Given the description of an element on the screen output the (x, y) to click on. 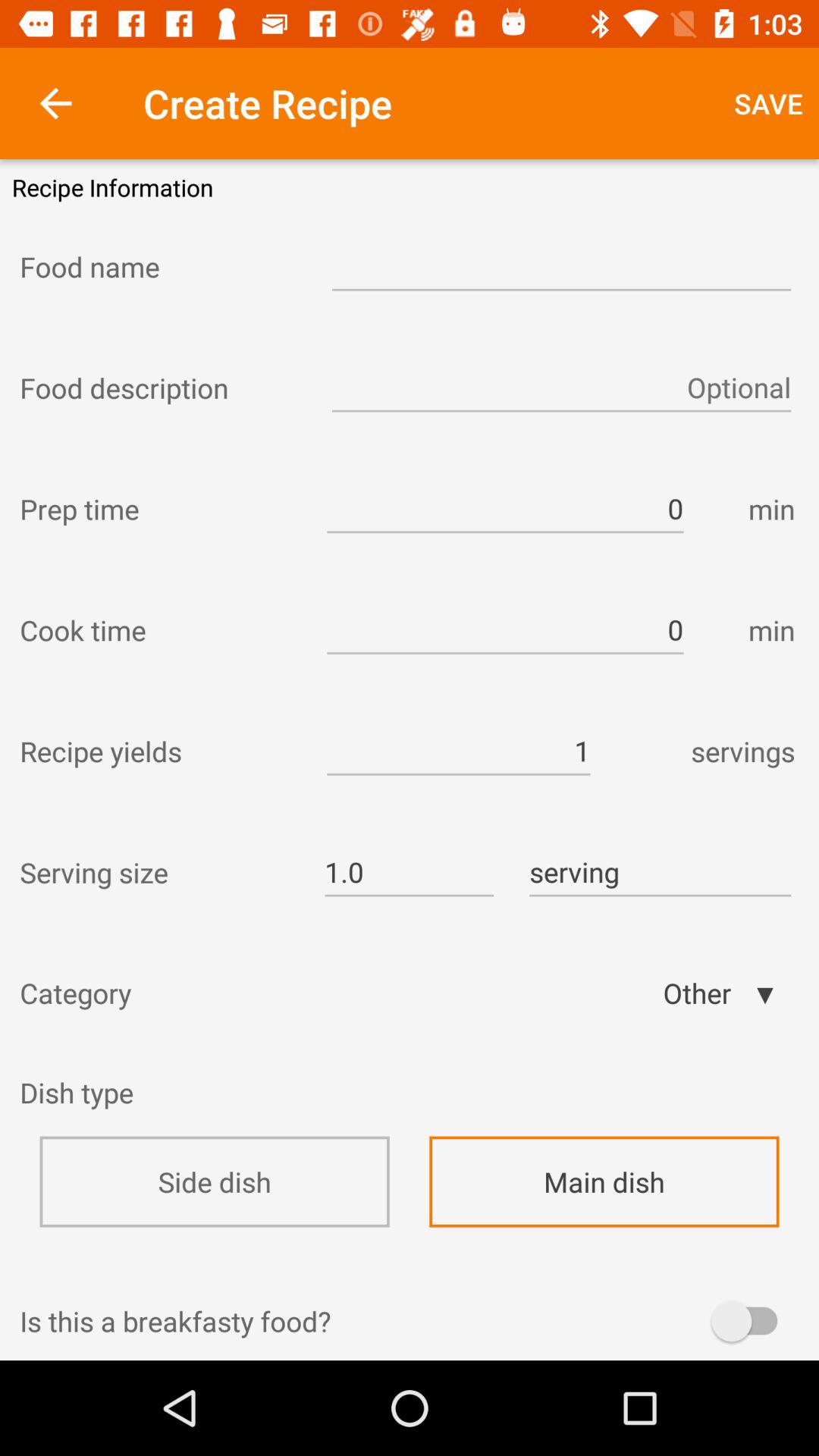
launch the icon next to the main dish app (76, 1102)
